Given the description of an element on the screen output the (x, y) to click on. 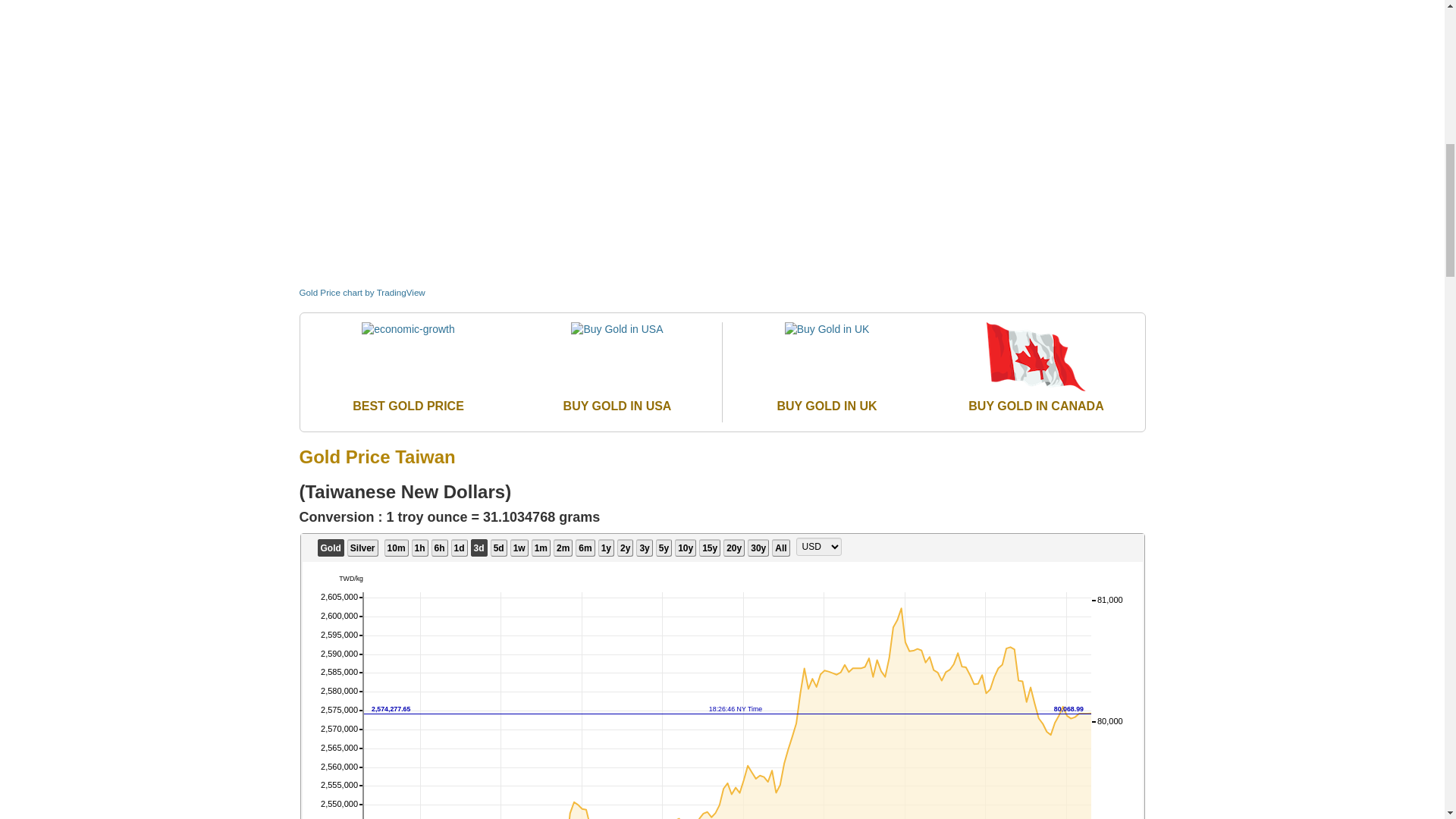
6 months (584, 547)
10 minutes (396, 547)
1 week (519, 547)
5 days (498, 547)
2 years (625, 547)
5 years (663, 547)
20 years (733, 547)
All (780, 547)
6 hours (439, 547)
3 days (478, 547)
15 years (709, 547)
30 years (758, 547)
2 months (562, 547)
1 month (540, 547)
1 year (606, 547)
